Given the description of an element on the screen output the (x, y) to click on. 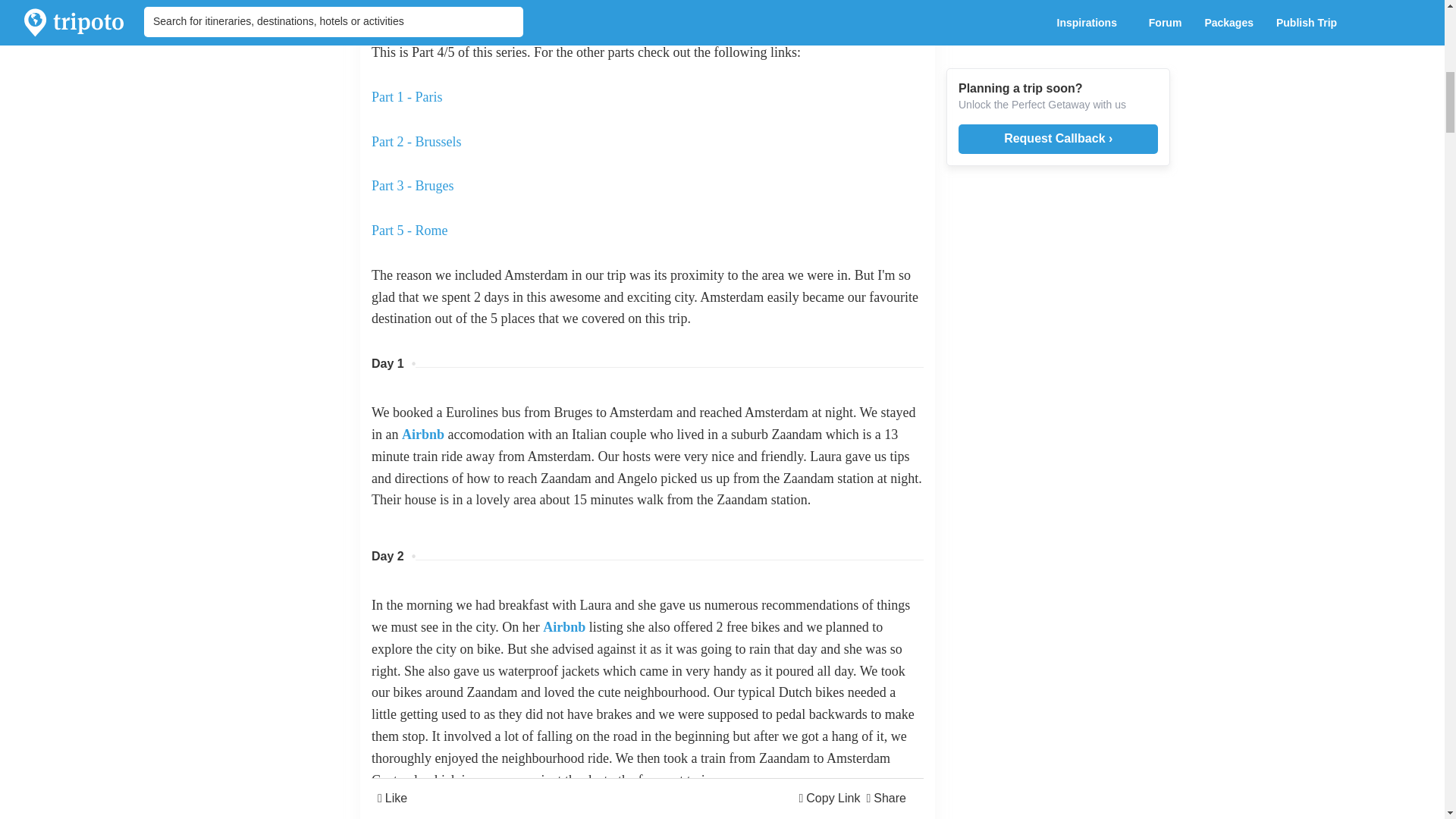
Airbnb (564, 626)
Part 5 - Rome (409, 230)
Part 3 - Bruges (411, 185)
Airbnb (422, 434)
Part 1 - Paris (406, 96)
Part 2 - Brussels (416, 140)
